Given the description of an element on the screen output the (x, y) to click on. 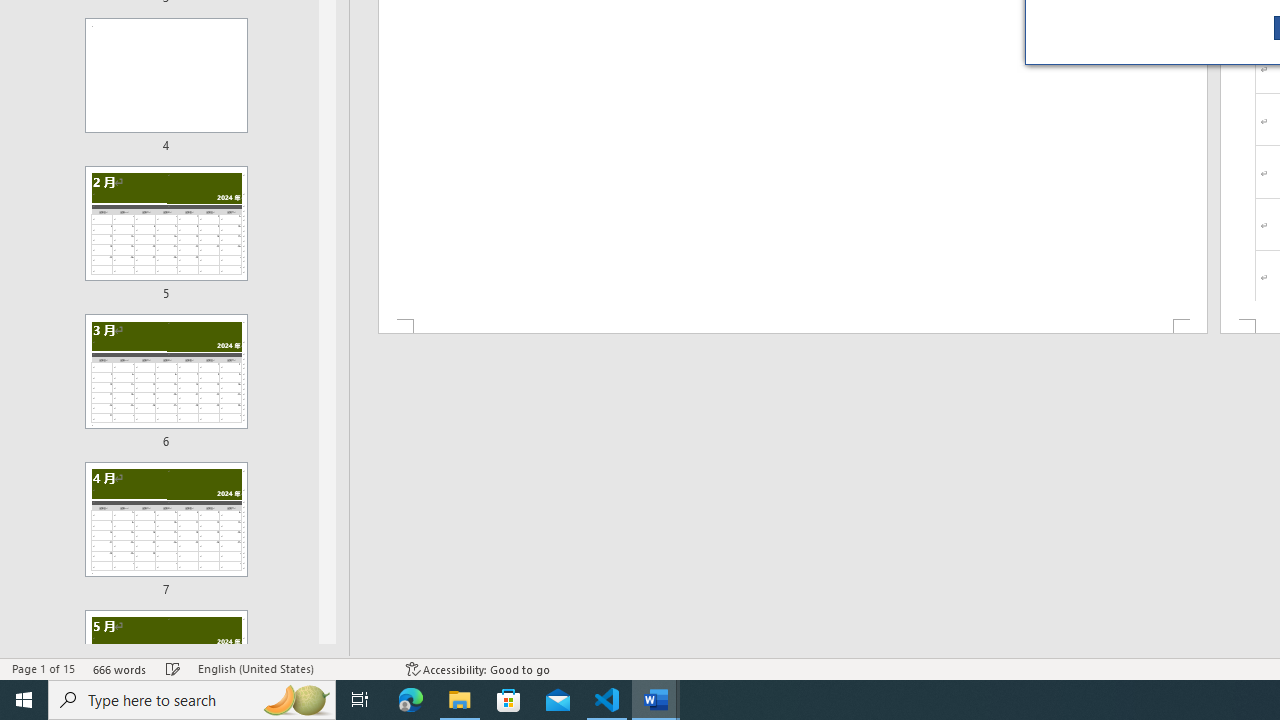
Start (24, 699)
